Given the description of an element on the screen output the (x, y) to click on. 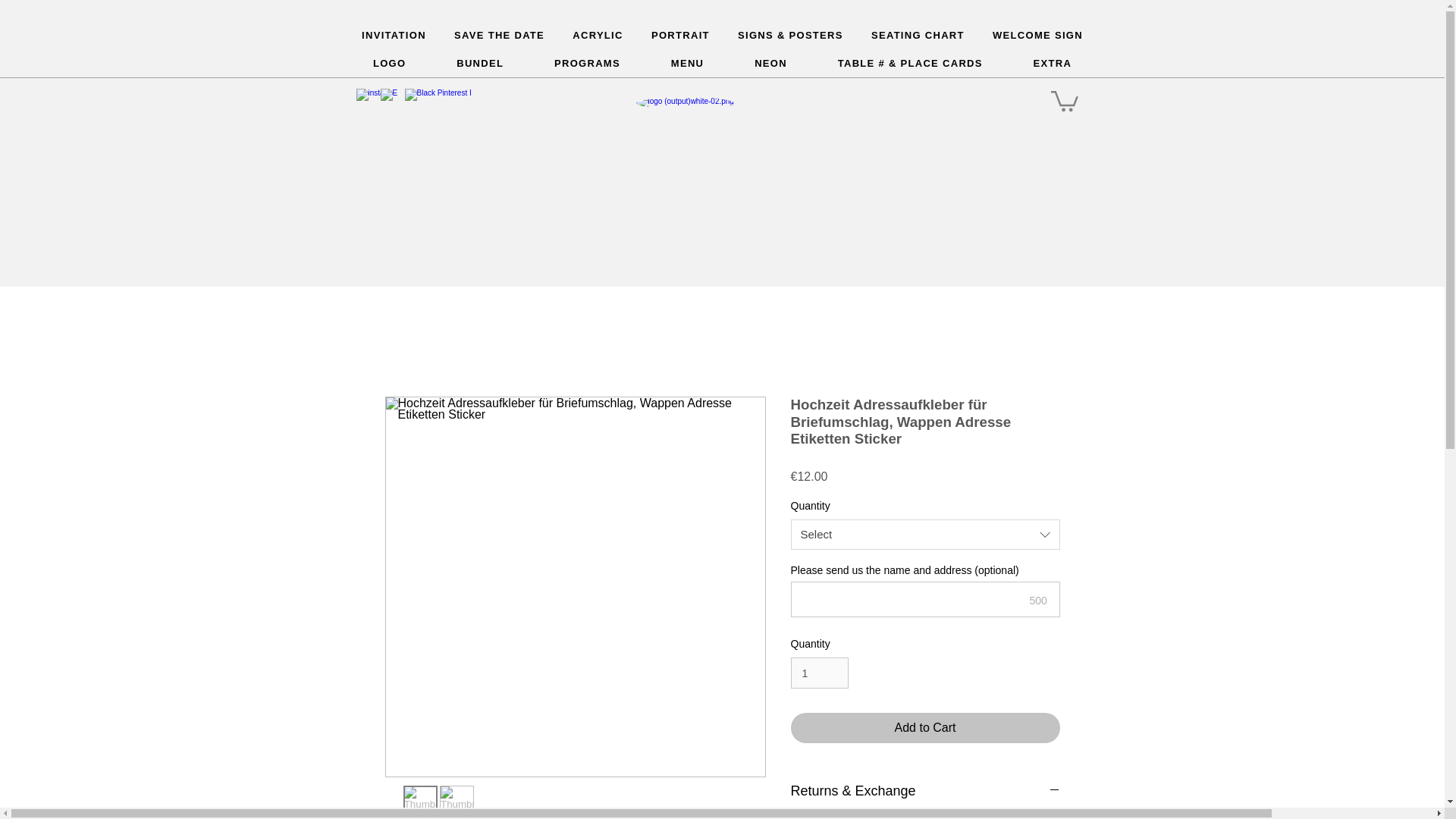
Add to Cart (924, 727)
EXTRA (1051, 63)
SAVE THE DATE (498, 35)
WELCOME SIGN (1037, 35)
Select (924, 534)
SEATING CHART (917, 35)
ACRYLIC (598, 35)
BUNDEL (479, 63)
1 (818, 672)
PORTRAIT (680, 35)
INVITATION (393, 35)
PROGRAMS (587, 63)
NEON (770, 63)
MENU (686, 63)
LOGO (389, 63)
